Given the description of an element on the screen output the (x, y) to click on. 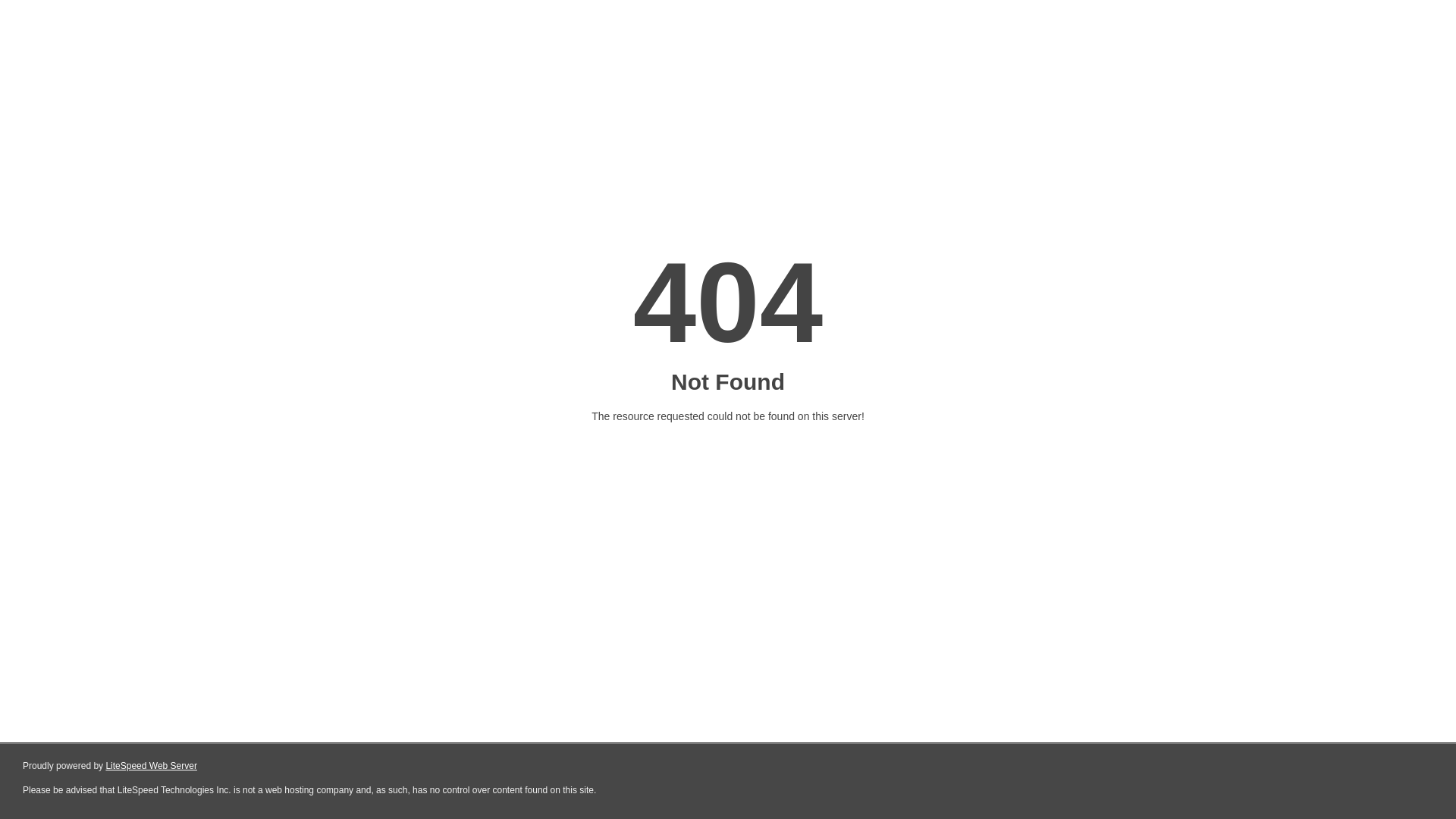
LiteSpeed Web Server Element type: text (151, 765)
